Given the description of an element on the screen output the (x, y) to click on. 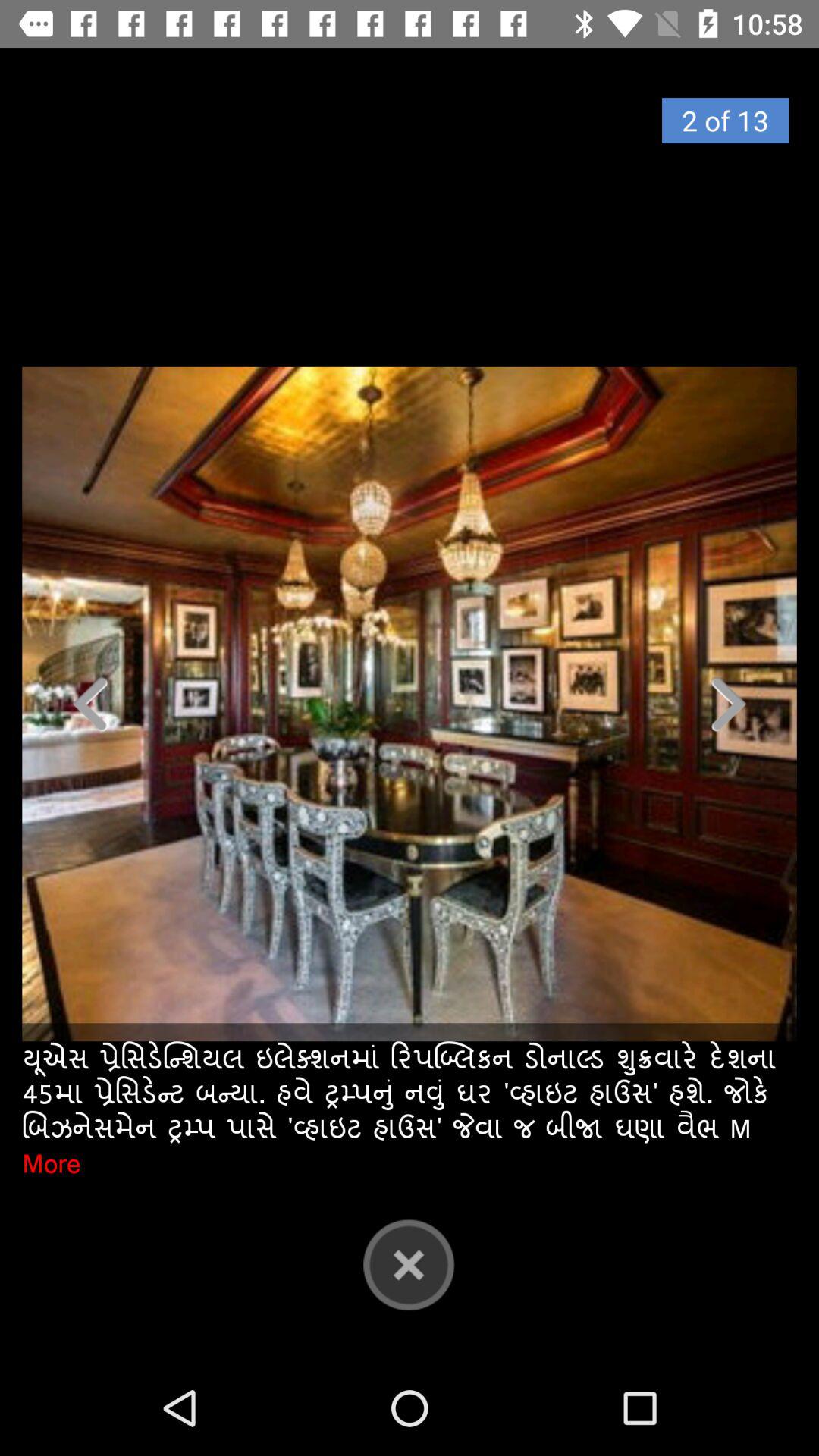
photo of dining room (409, 703)
